Given the description of an element on the screen output the (x, y) to click on. 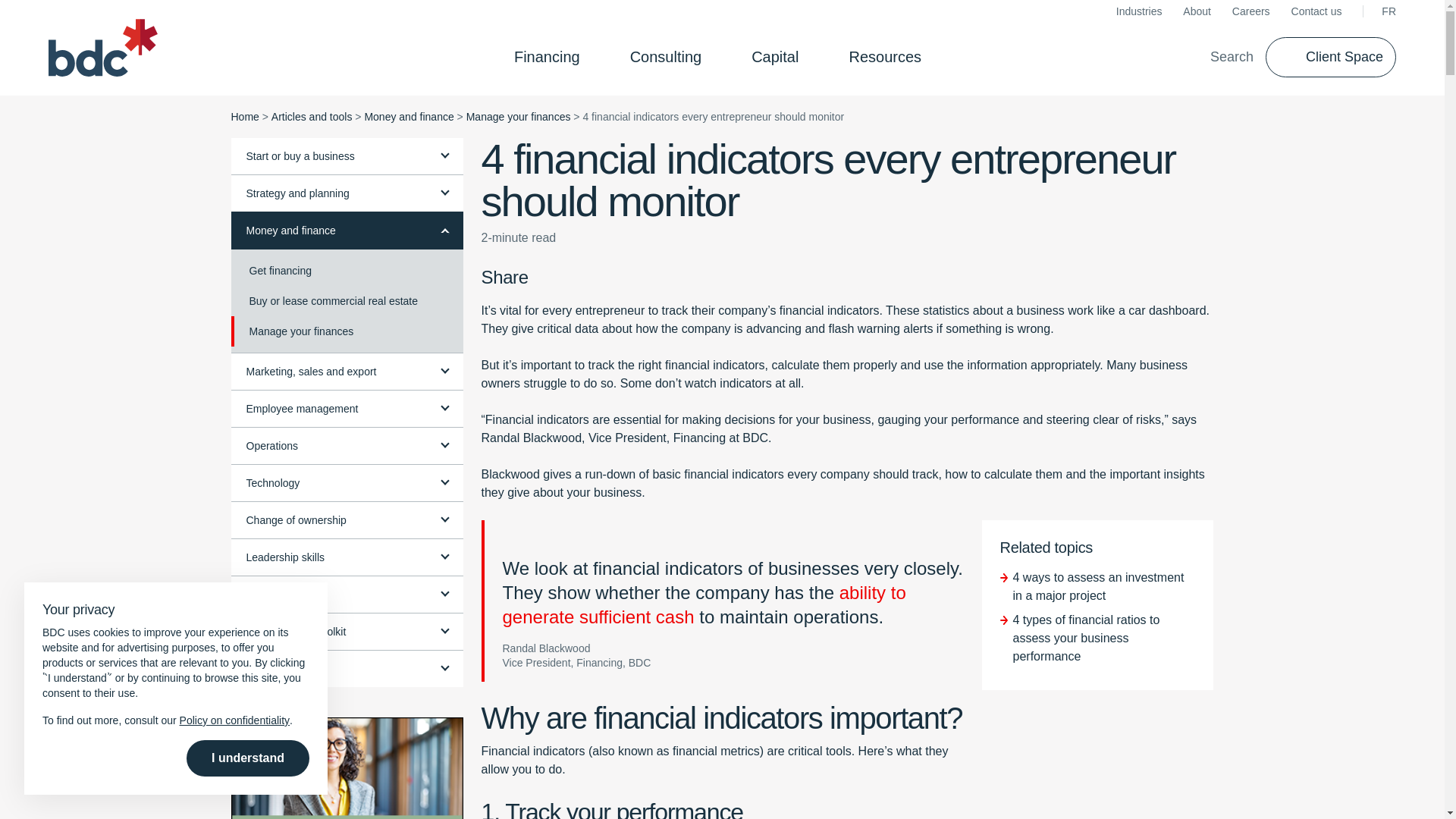
Financial Fundamentals II (346, 768)
Financing (551, 56)
Search (1220, 56)
Consulting (670, 56)
Facebook (543, 277)
Twitter (567, 277)
Capital (779, 56)
Client Space (1330, 56)
LinkedIn (592, 277)
